Given the description of an element on the screen output the (x, y) to click on. 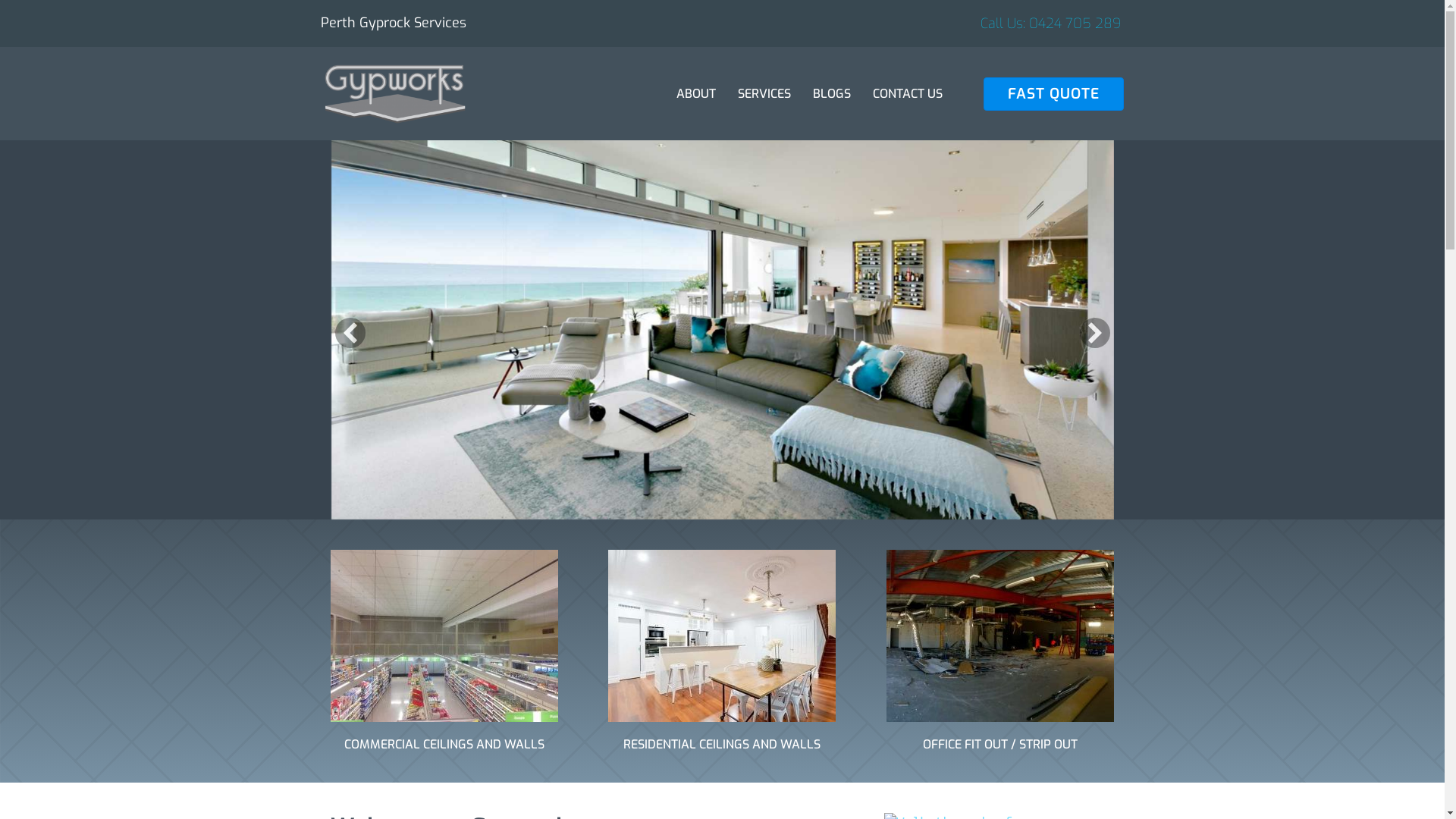
CONTACT US Element type: text (907, 93)
bb40a61e2e5baf550d3c14265f9c4ba2 Element type: hover (721, 635)
ABOUT Element type: text (695, 93)
SERVICES Element type: text (764, 93)
fcacbf0890f5556ac7156678fe834ebf Element type: hover (999, 635)
GypWorks-logo Element type: hover (393, 93)
COMMERCIAL CEILINGS AND WALLS Element type: text (444, 744)
RESIDENTIAL CEILINGS AND WALLS Element type: text (721, 744)
Call Us: 0424 705 289 Element type: text (1050, 23)
ff131bc9e6dfa0e2f12e588ecc585bce Element type: hover (444, 635)
OFFICE FIT OUT / STRIP OUT Element type: text (999, 744)
FAST QUOTE Element type: text (1053, 93)
BLOGS Element type: text (831, 93)
